Given the description of an element on the screen output the (x, y) to click on. 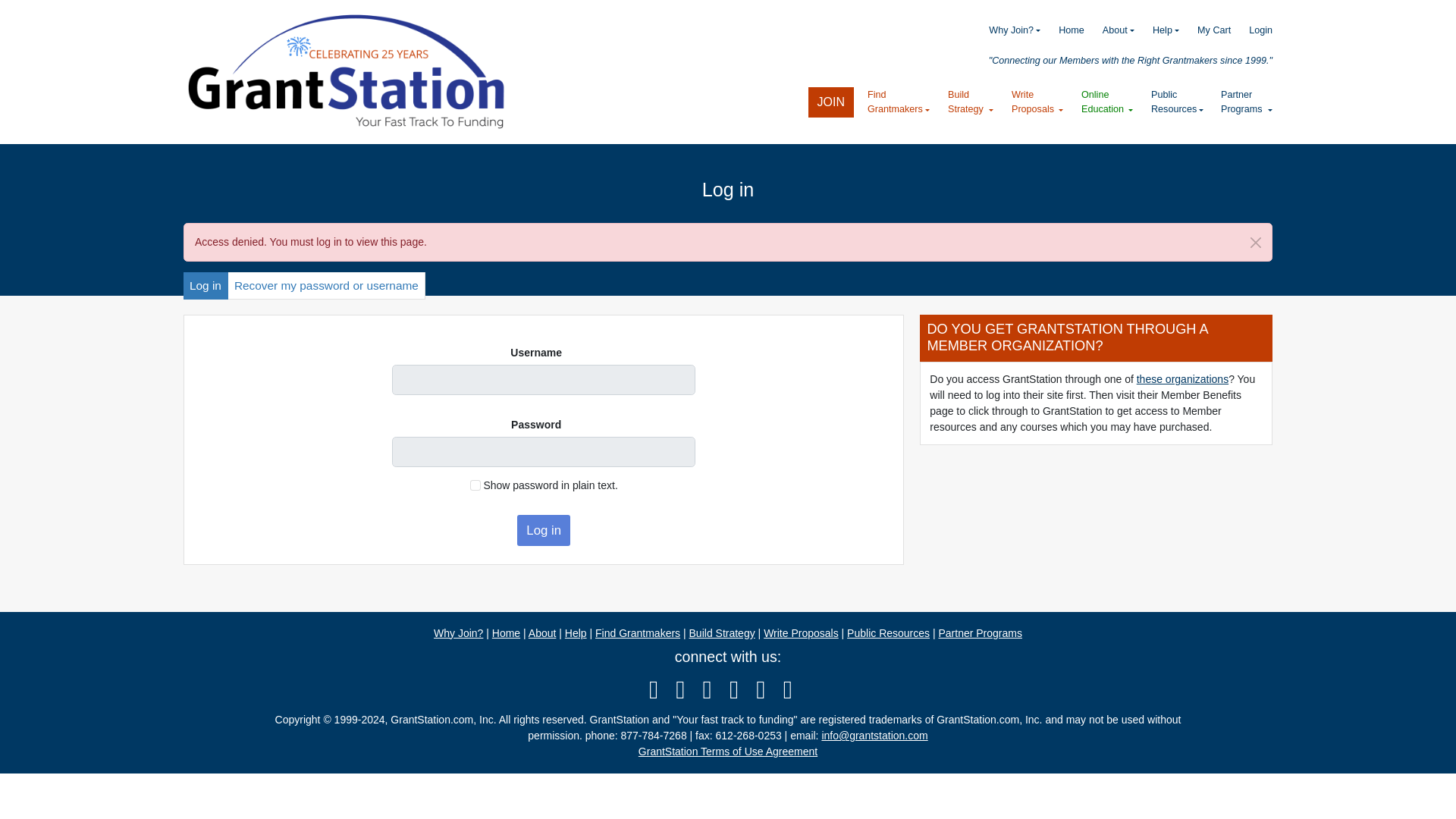
Home (347, 71)
About (1109, 30)
Login (1251, 30)
Build Strategy (971, 101)
JOIN (830, 101)
My Cart (1204, 30)
1 (475, 484)
Why Join? (1006, 30)
Find Grantmakers (899, 101)
Expand menu About (1109, 30)
